Given the description of an element on the screen output the (x, y) to click on. 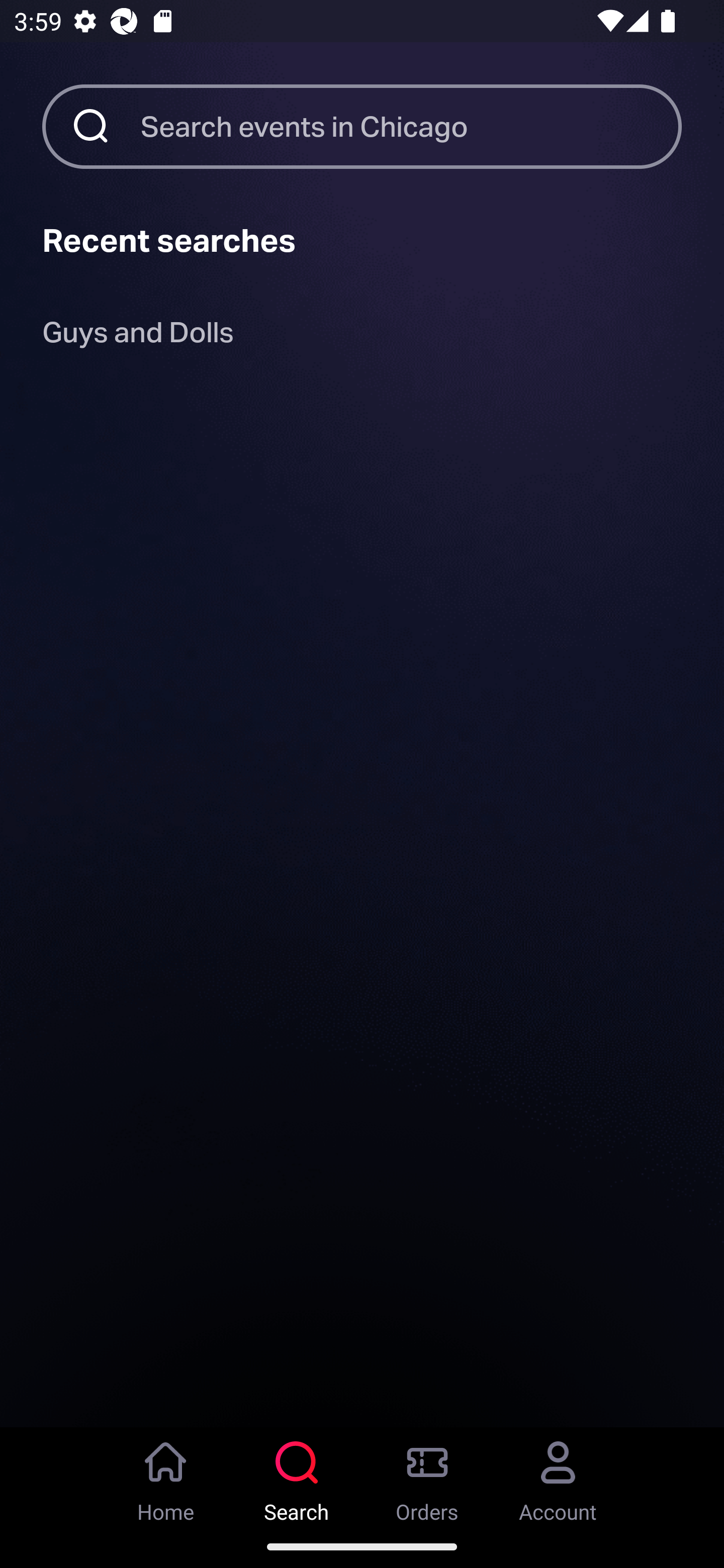
Search events in Chicago (411, 126)
Guys and Dolls (137, 336)
Home (165, 1475)
Orders (427, 1475)
Account (558, 1475)
